Given the description of an element on the screen output the (x, y) to click on. 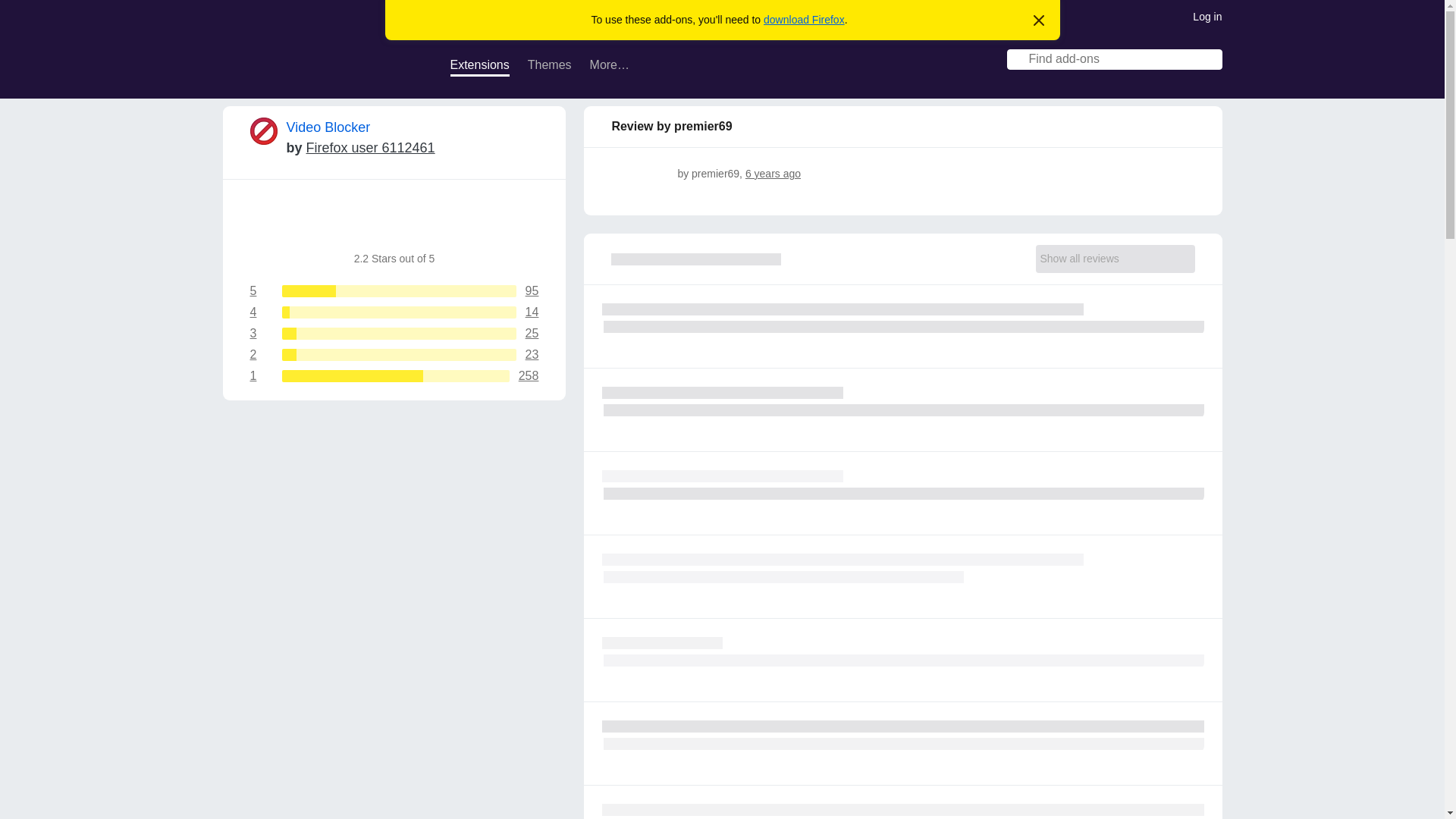
Read all 23 two-star reviews (394, 354)
Read all 95 five-star reviews (394, 291)
Read all 14 four-star reviews (394, 312)
Log in (1206, 14)
Rated 2.2 out of 5 (512, 222)
Rated 2.2 out of 5 (275, 222)
Feb 6, 2019 7:18 AM (772, 173)
Rated 2.2 out of 5 (333, 222)
download Firefox (803, 19)
Firefox user 6112461 (370, 147)
